Given the description of an element on the screen output the (x, y) to click on. 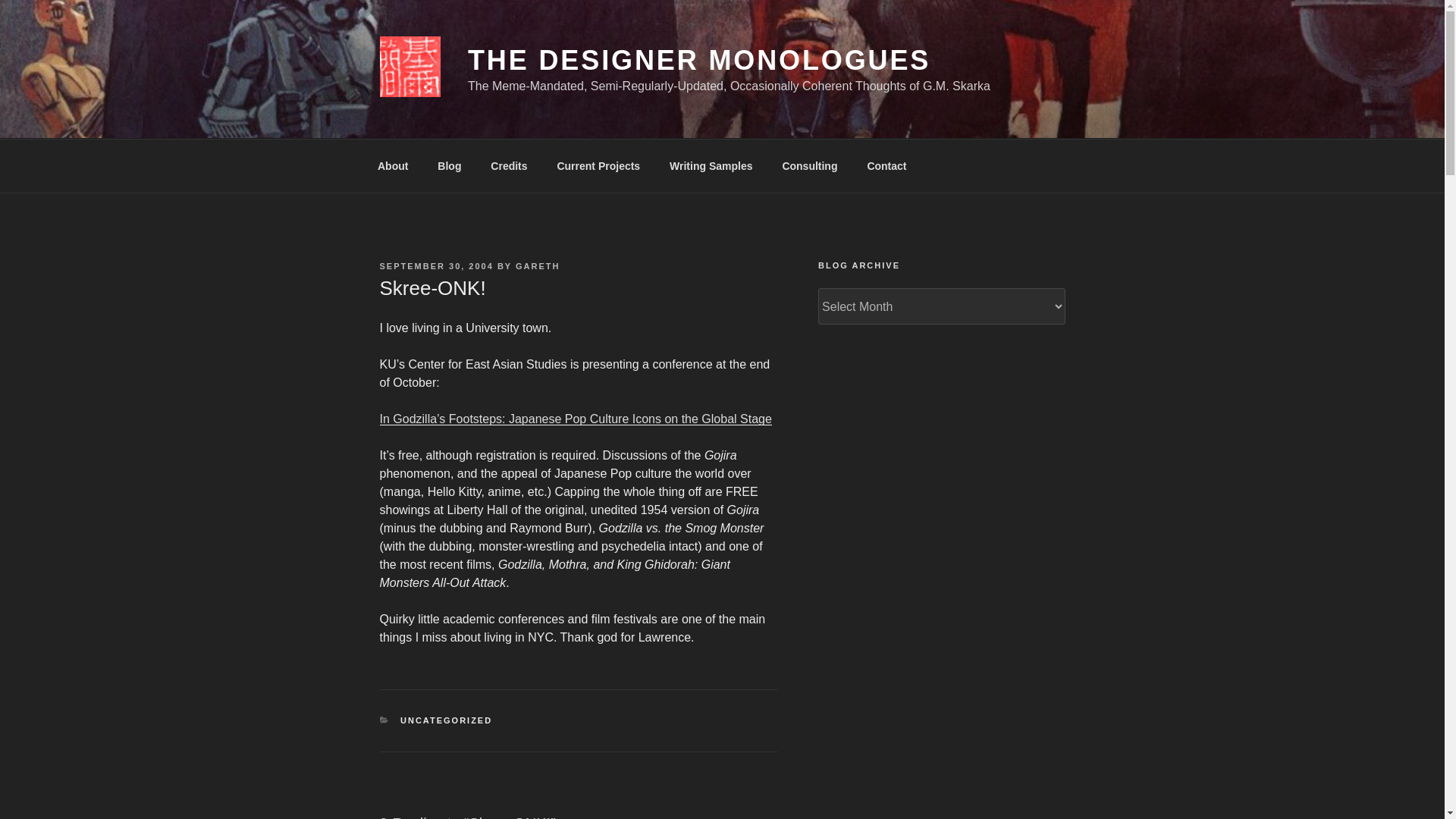
GARETH (537, 266)
THE DESIGNER MONOLOGUES (698, 60)
Blog (449, 165)
Contact (886, 165)
Current Projects (598, 165)
SEPTEMBER 30, 2004 (435, 266)
Writing Samples (710, 165)
Credits (508, 165)
UNCATEGORIZED (446, 719)
About (392, 165)
